Given the description of an element on the screen output the (x, y) to click on. 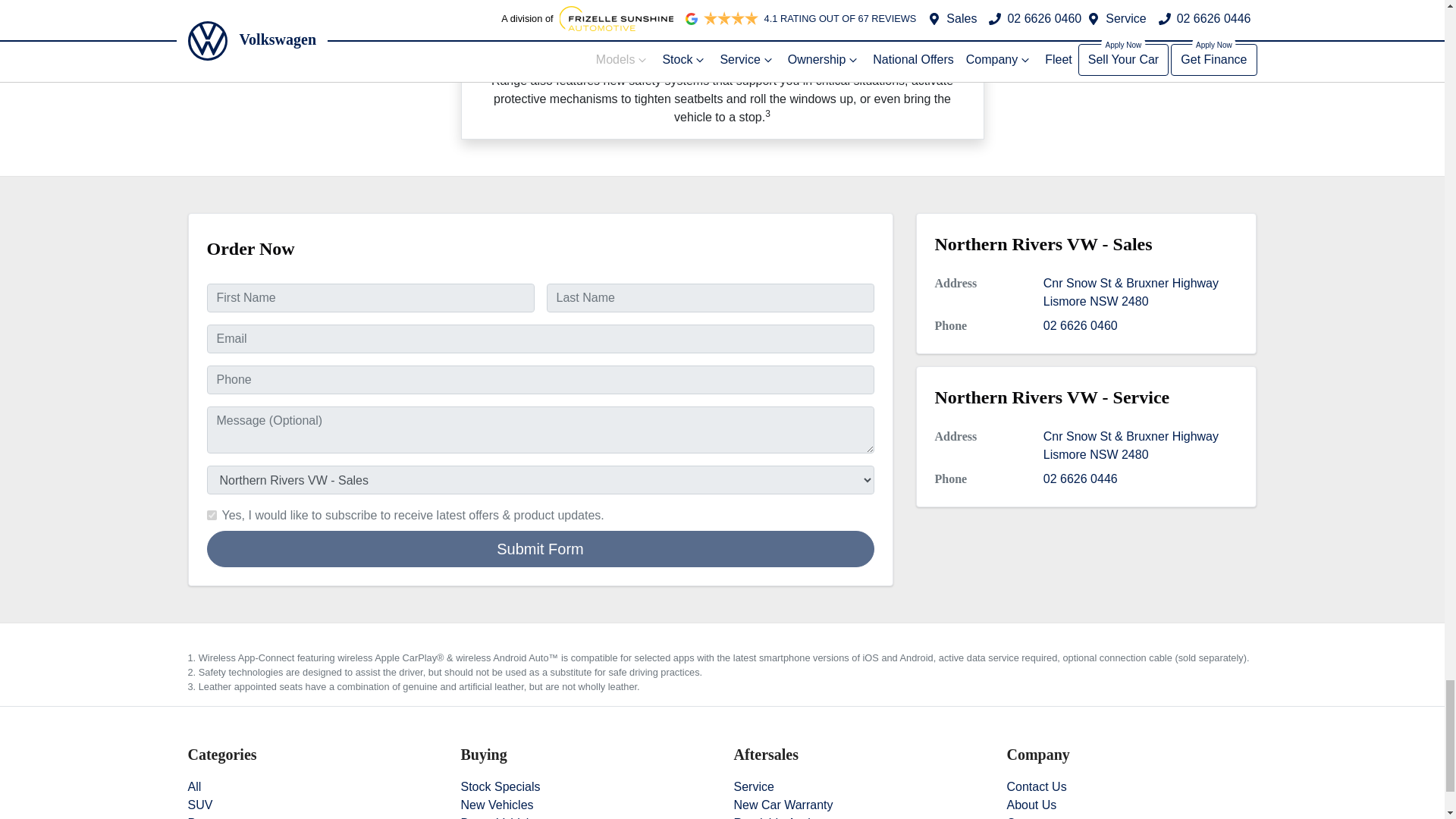
on (210, 515)
